Given the description of an element on the screen output the (x, y) to click on. 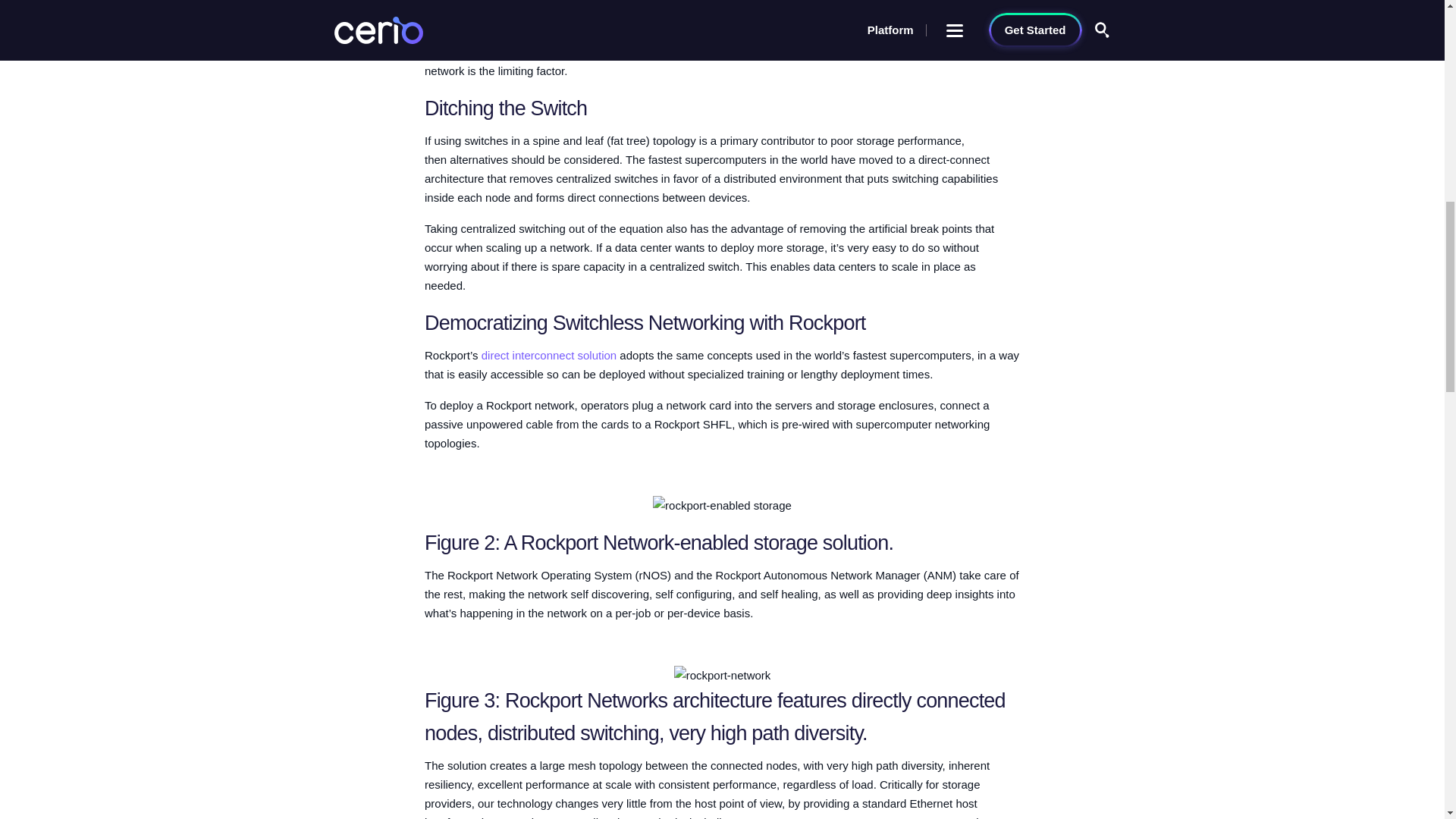
direct interconnect solution (548, 354)
